Given the description of an element on the screen output the (x, y) to click on. 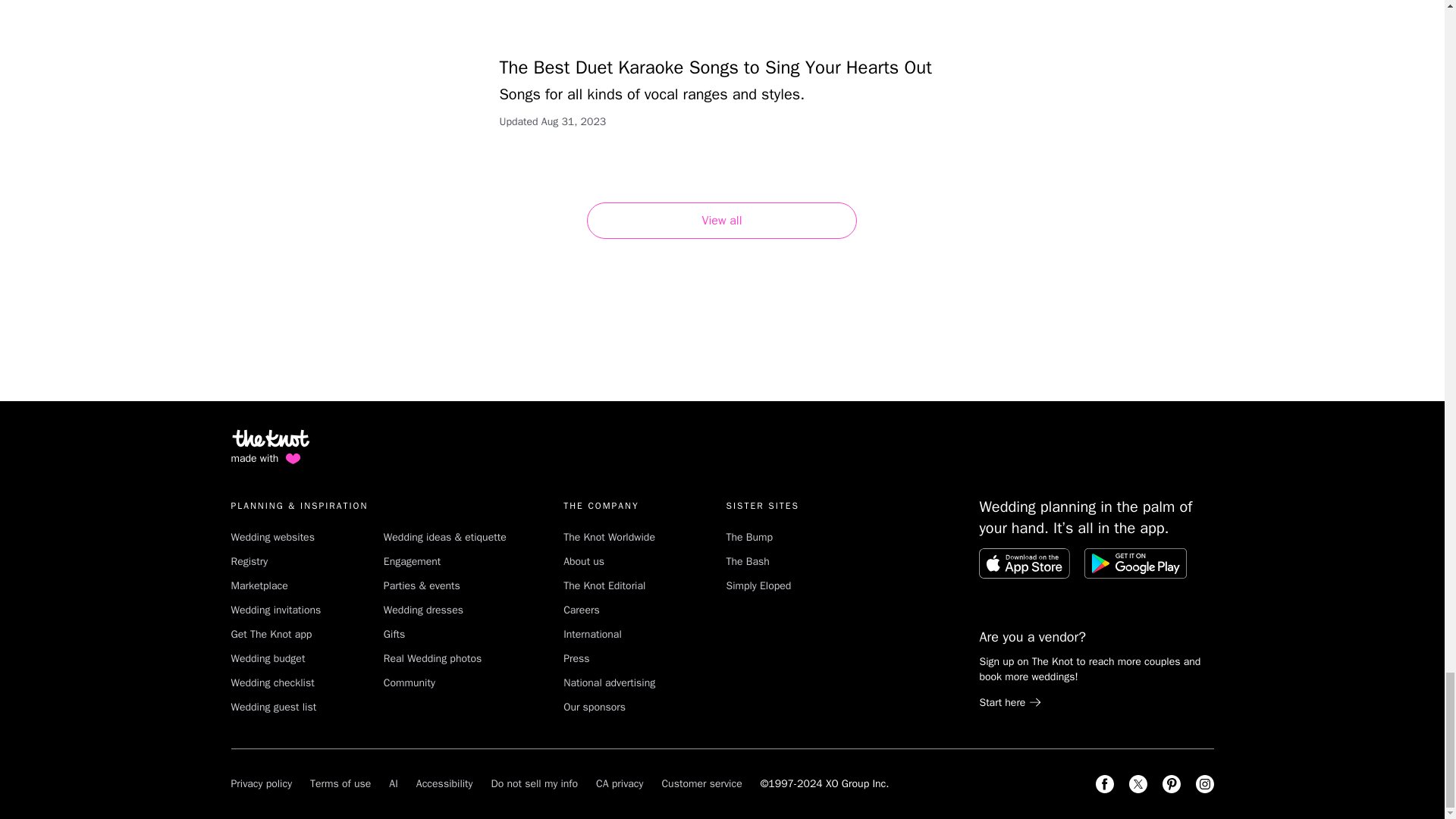
love (292, 458)
